Given the description of an element on the screen output the (x, y) to click on. 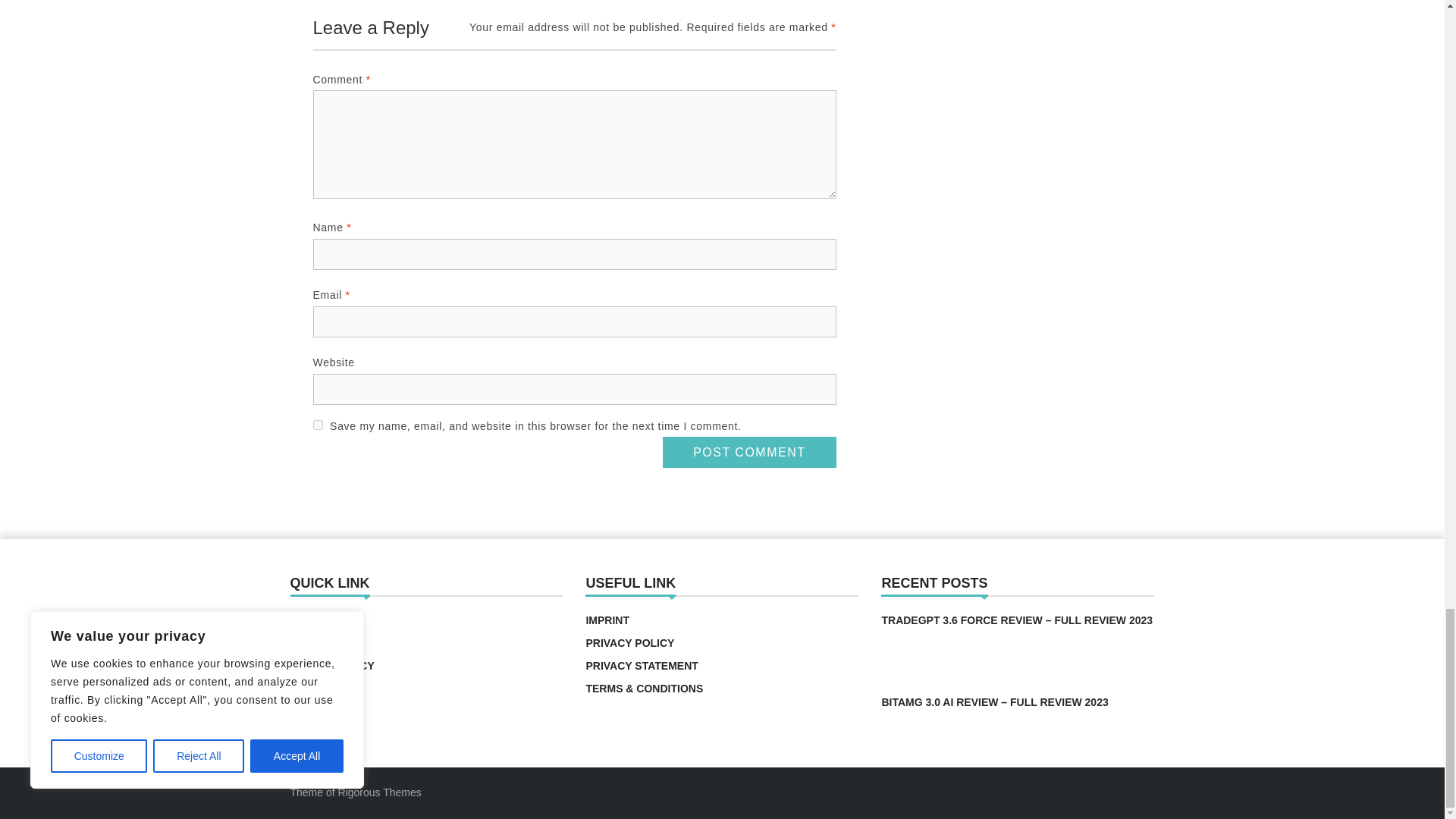
Post Comment (748, 451)
Post Comment (748, 451)
yes (317, 424)
